Given the description of an element on the screen output the (x, y) to click on. 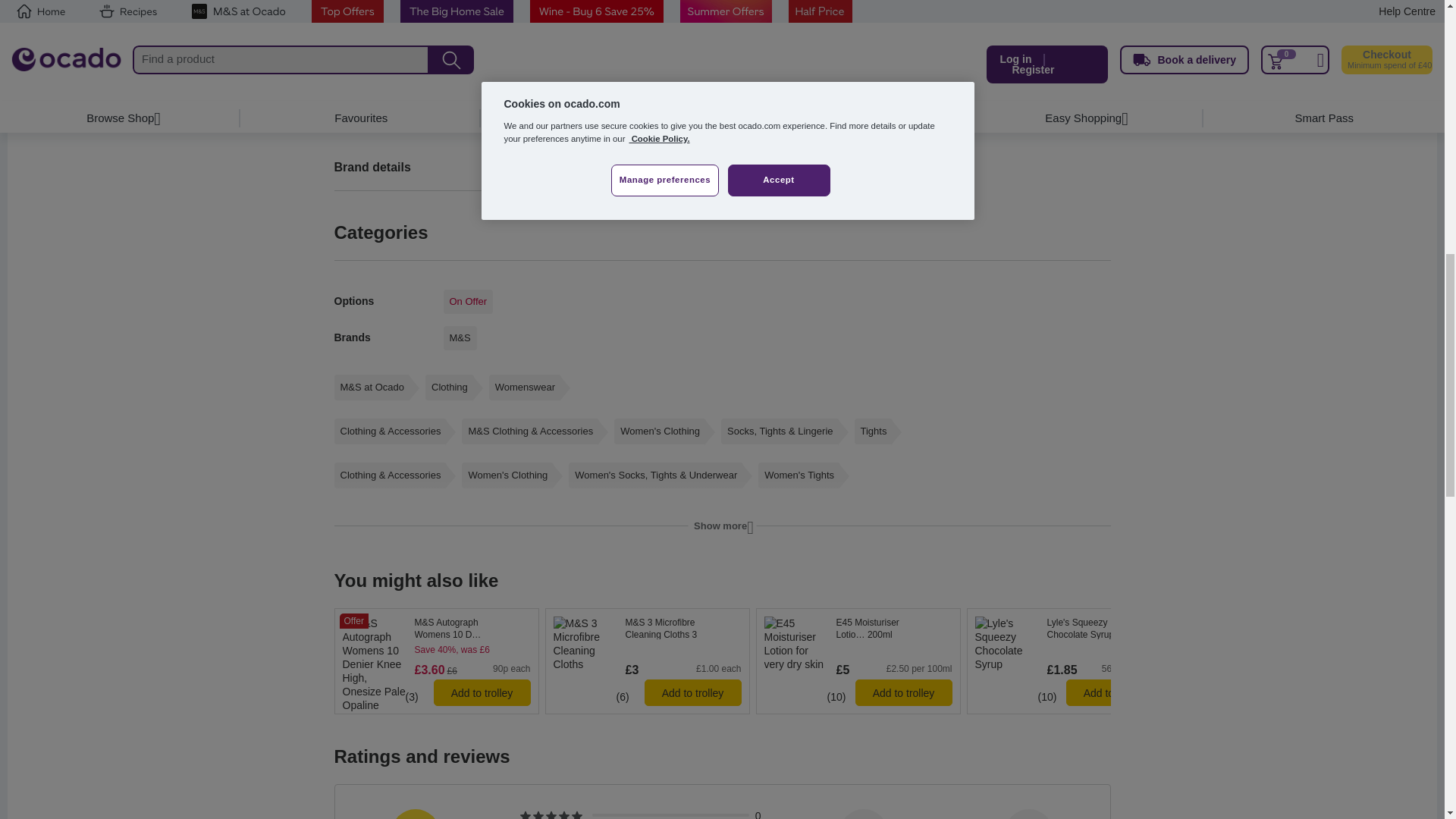
Brand details (521, 166)
Reviews 5.00 out of 5 (796, 696)
Suitable for vegetarians (980, 677)
Reviews 2.70 out of 5 (360, 696)
Reviews 1.70 out of 5 (564, 696)
Lyle's Squeezy Chocolate Syrup (1103, 627)
E45 Moisturiser Lotion for very dry skin (893, 627)
Reviews 2.60 out of 5 (992, 696)
On Offer (467, 301)
